Given the description of an element on the screen output the (x, y) to click on. 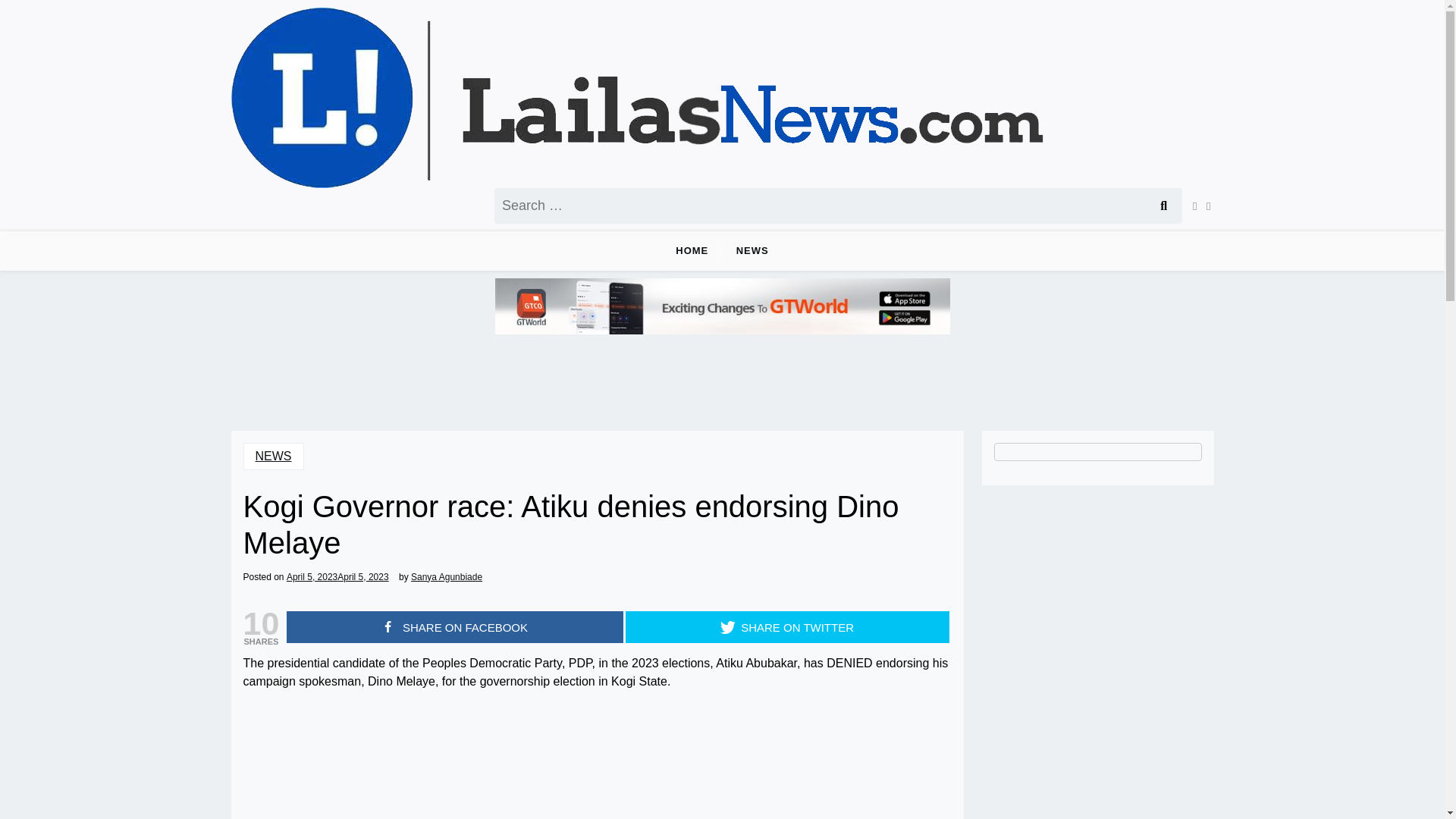
NEWS (751, 250)
Sanya Agunbiade (445, 575)
SHARE ON FACEBOOK (454, 626)
Advertisement (596, 760)
Search (1163, 205)
Search (1163, 205)
Search (1163, 205)
April 5, 2023April 5, 2023 (337, 575)
NEWS (272, 456)
SHARE ON TWITTER (786, 626)
